Given the description of an element on the screen output the (x, y) to click on. 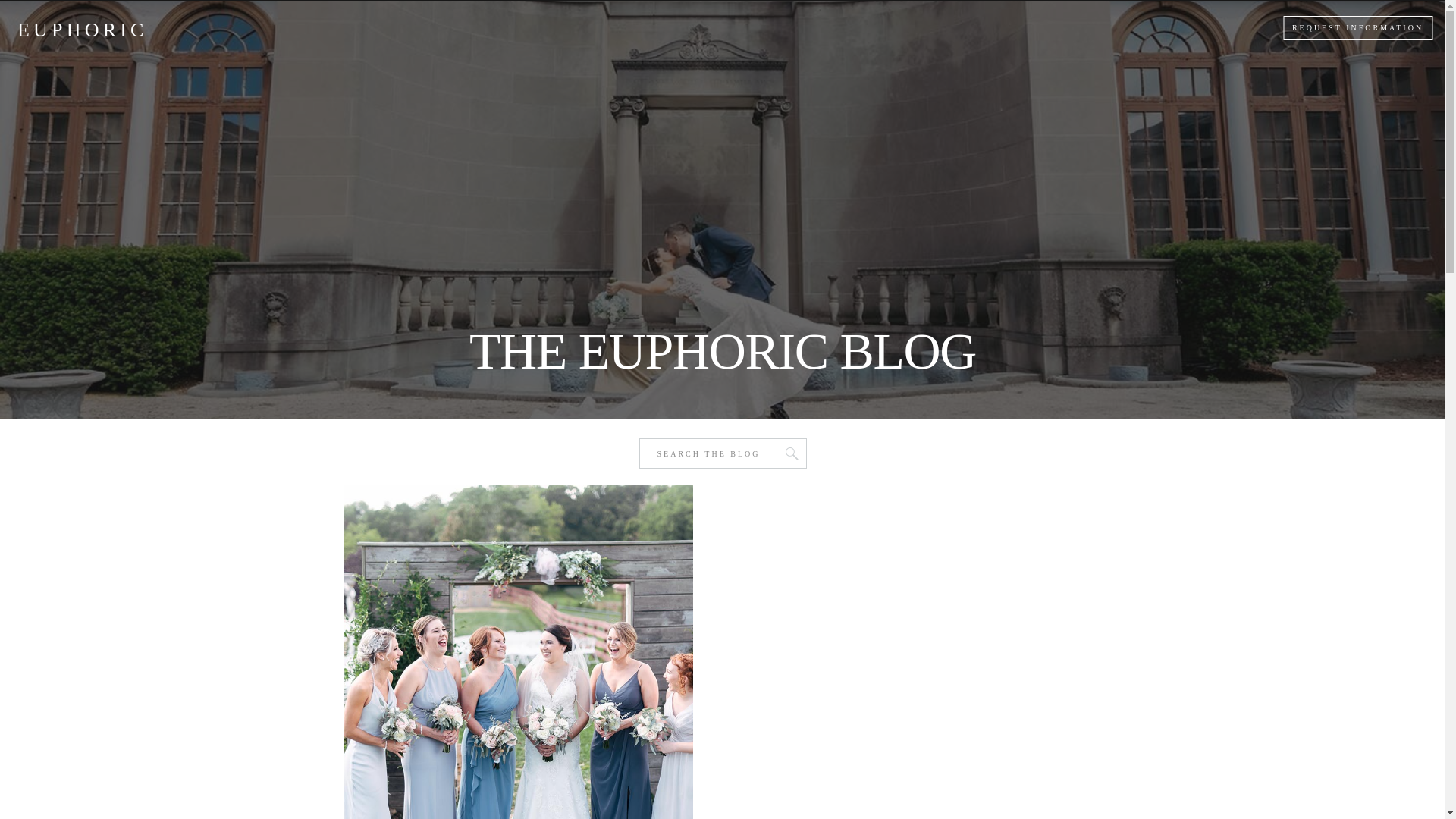
INVESTMENT (775, 28)
HOME (479, 28)
EUPHORIC (79, 27)
Importance of Light in Wedding Imagery (518, 652)
CONTACT (959, 28)
BLOG (873, 28)
PORTFOLIO (658, 28)
ABOUT (559, 28)
REQUEST INFORMATION (1357, 28)
